Given the description of an element on the screen output the (x, y) to click on. 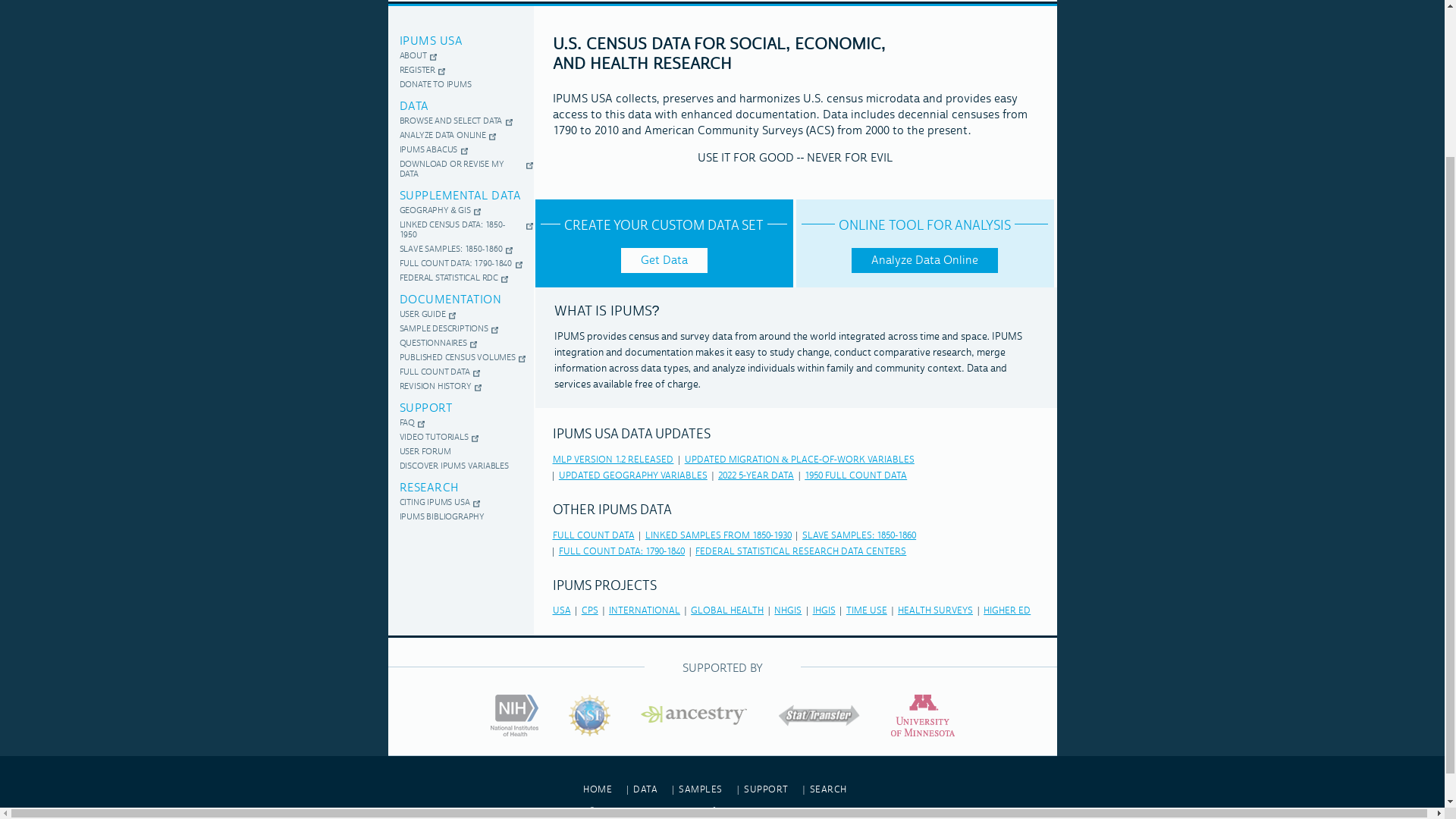
Analyze Data Online (924, 260)
REVISION HISTORY (434, 387)
ANALYZE DATA ONLINE (442, 135)
FAQ (407, 423)
DONATE TO IPUMS (434, 85)
VIDEO TUTORIALS (433, 438)
UPDATED GEOGRAPHY VARIABLES (633, 475)
SLAVE SAMPLES: 1850-1860 (450, 249)
IPUMS BIBLIOGRAPHY (442, 517)
FULL COUNT DATA (434, 372)
DOWNLOAD OR REVISE MY DATA (461, 169)
FULL COUNT DATA (592, 535)
FULL COUNT DATA: 1790-1840 (455, 264)
QUESTIONNAIRES (433, 343)
BROWSE AND SELECT DATA (450, 121)
